Given the description of an element on the screen output the (x, y) to click on. 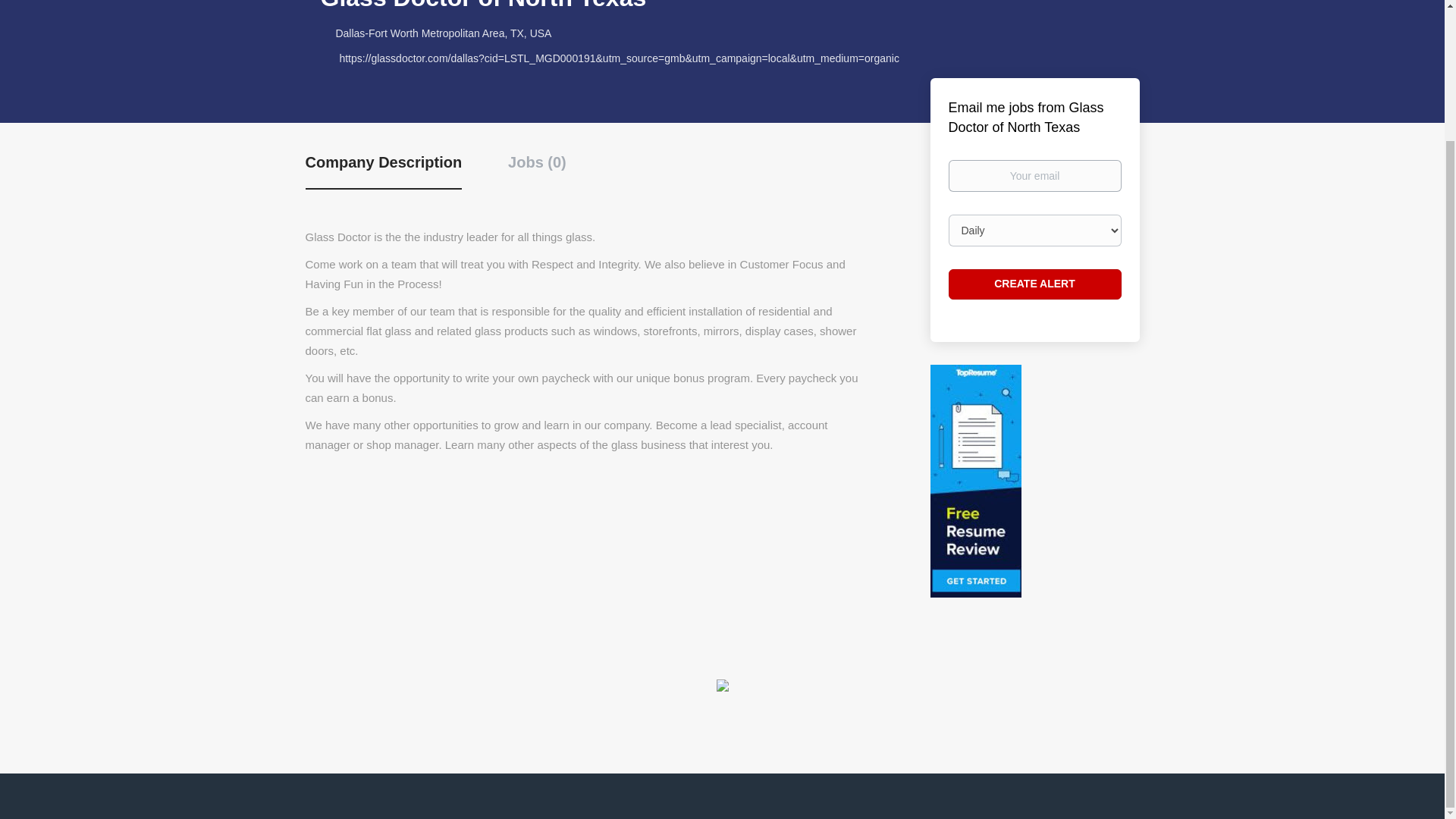
Create alert (1034, 284)
Company Description (382, 170)
Create alert (1034, 284)
